Given the description of an element on the screen output the (x, y) to click on. 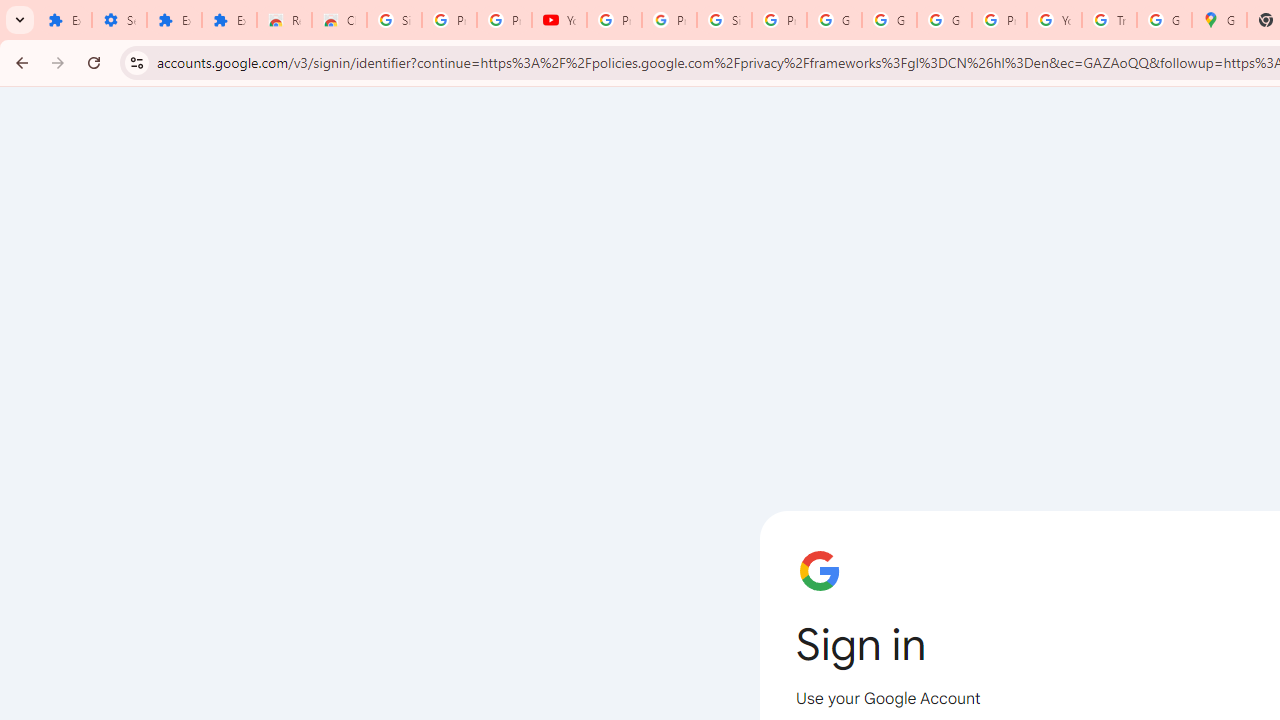
Reviews: Helix Fruit Jump Arcade Game (284, 20)
Google Maps (1218, 20)
Google Account (888, 20)
Sign in - Google Accounts (724, 20)
